Given the description of an element on the screen output the (x, y) to click on. 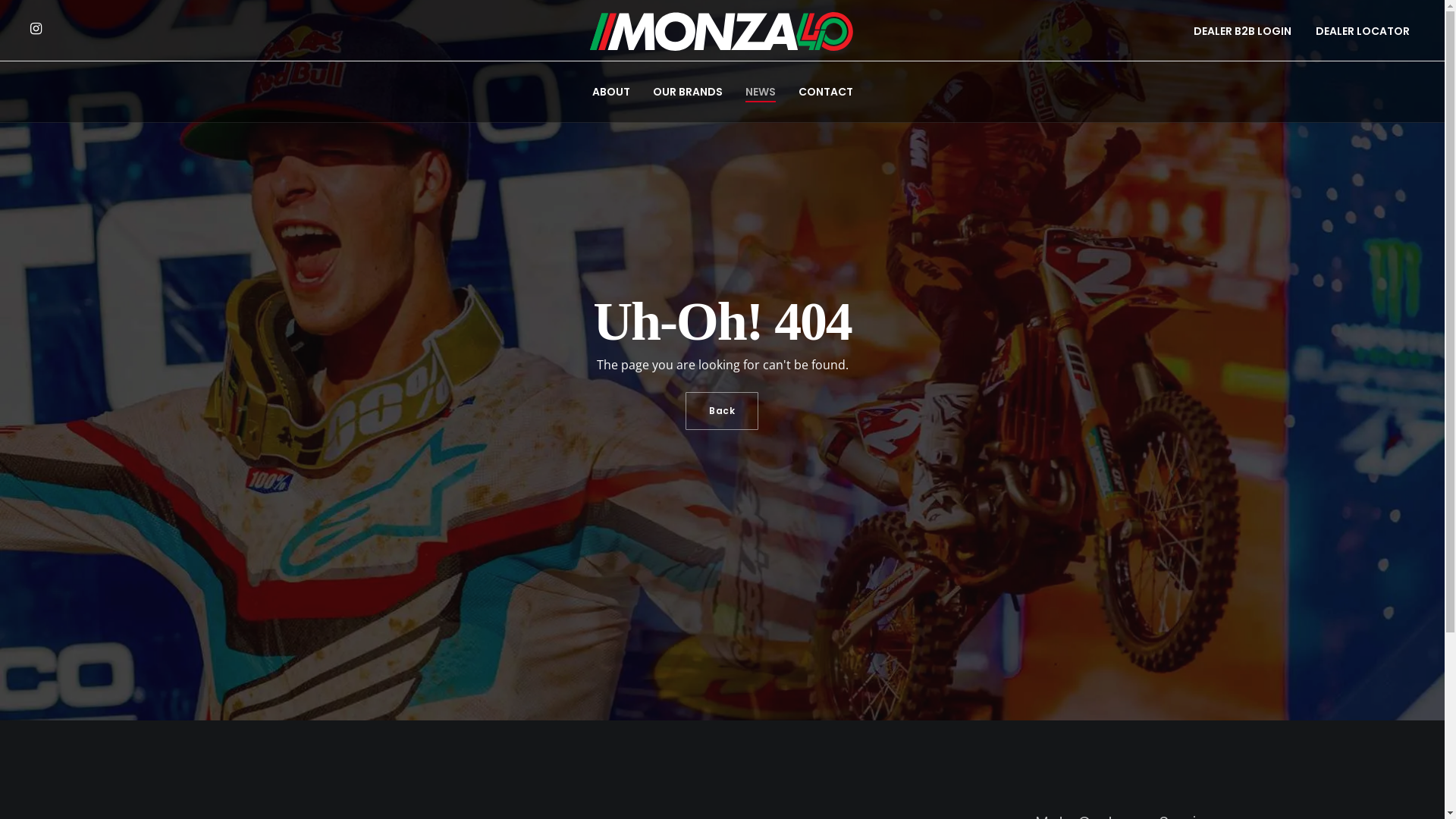
DEALER B2B LOGIN Element type: text (1242, 31)
ABOUT Element type: text (610, 91)
Back Element type: text (721, 410)
CONTACT Element type: text (824, 91)
OUR BRANDS Element type: text (686, 91)
NEWS Element type: text (759, 91)
DEALER LOCATOR Element type: text (1362, 31)
